Given the description of an element on the screen output the (x, y) to click on. 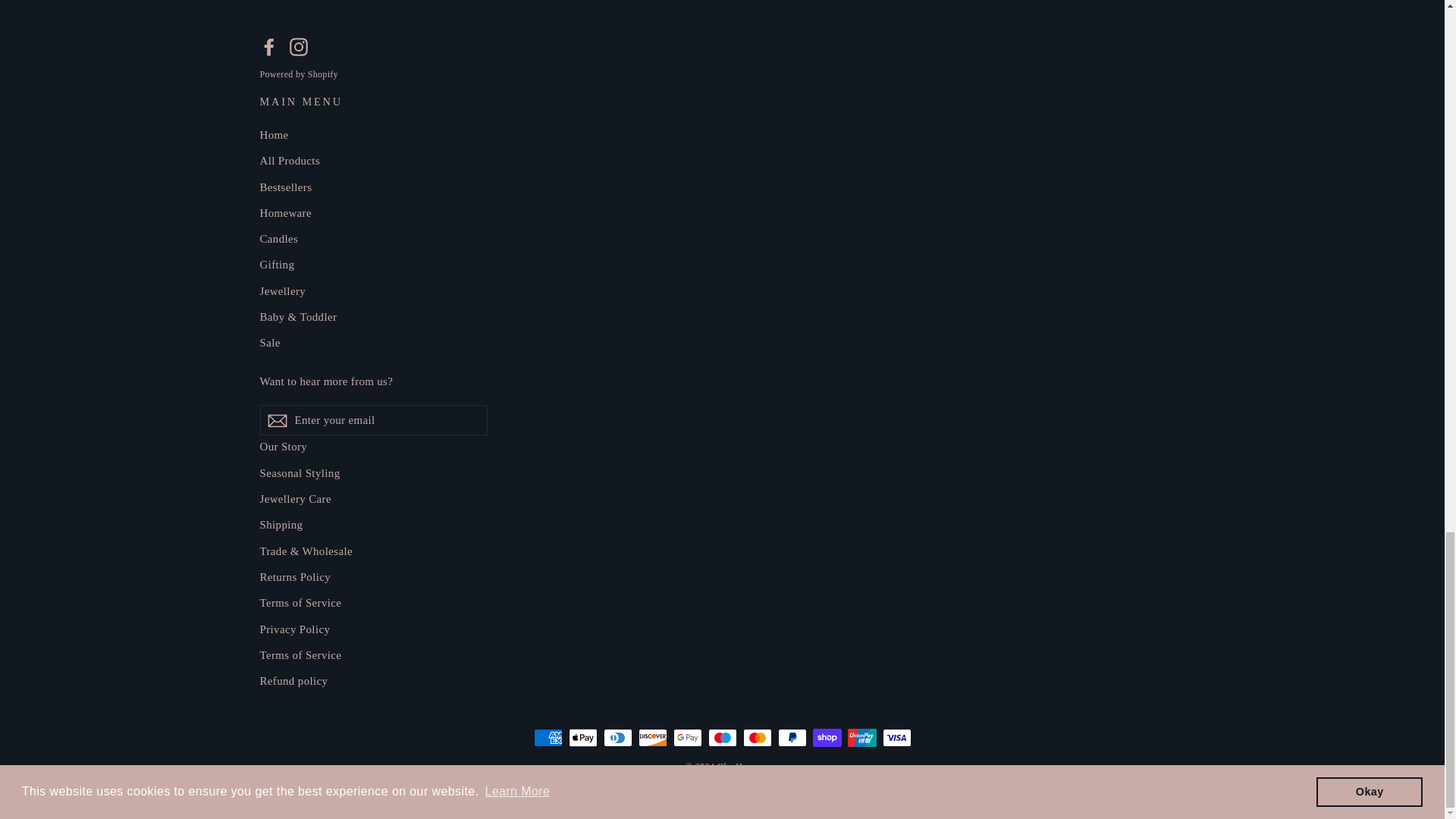
PayPal (791, 737)
Google Pay (686, 737)
Shop Pay (826, 737)
Diners Club (617, 737)
Maestro (721, 737)
Mastercard (756, 737)
Oba Home on Instagram (298, 46)
Discover (652, 737)
Apple Pay (582, 737)
Oba Home on Facebook (268, 46)
American Express (548, 737)
